Given the description of an element on the screen output the (x, y) to click on. 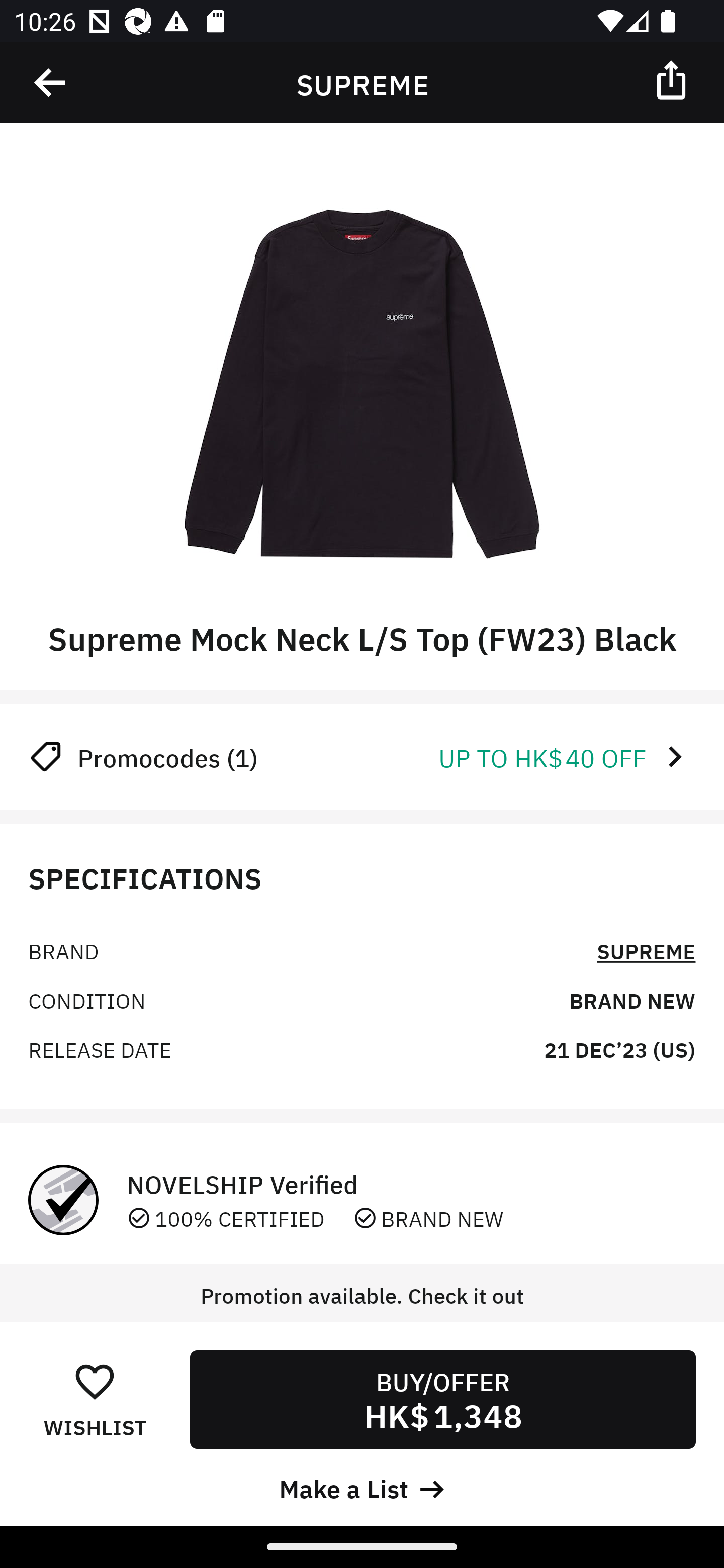
 (50, 83)
 (672, 79)
Promocodes (1) UP TO HK$ 40 OFF  (361, 756)
SUPREME (645, 949)
BRAND NEW (632, 999)
21 DEC’23 (US) (619, 1048)
BUY/OFFER HK$ 1,348 (442, 1399)
󰋕 (94, 1380)
Make a List (361, 1486)
